Given the description of an element on the screen output the (x, y) to click on. 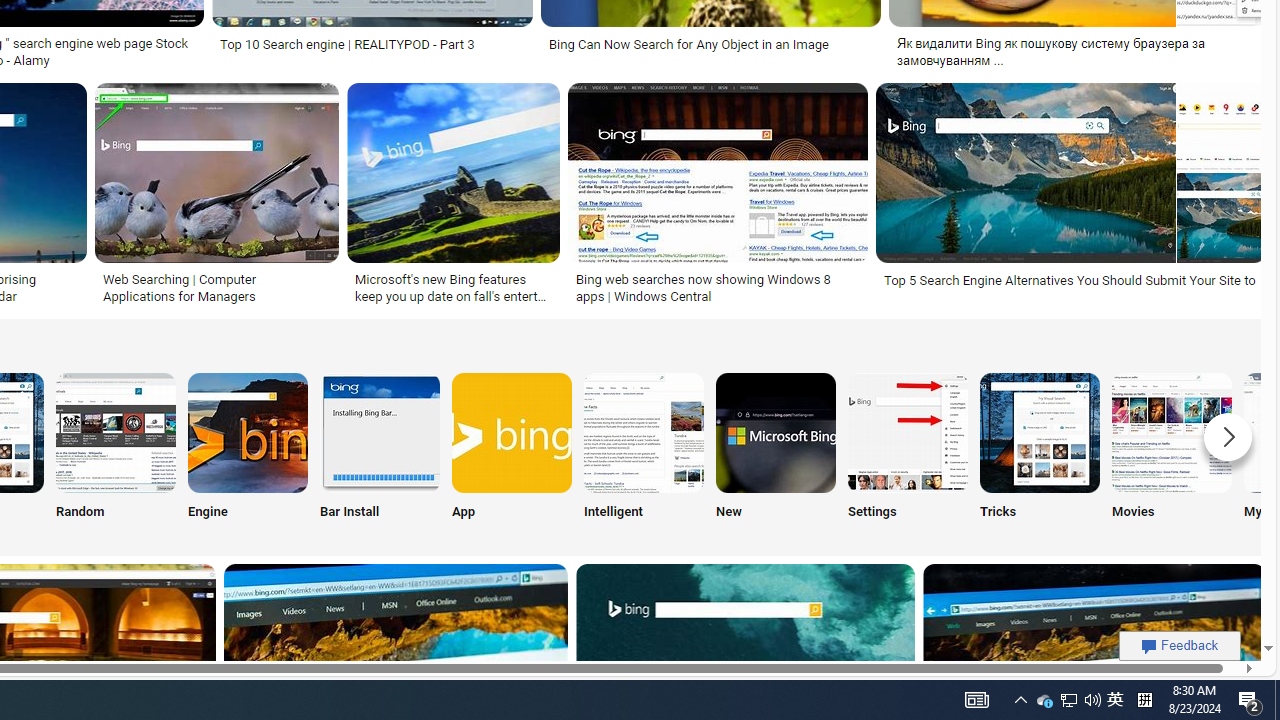
Top 10 Search engine | REALITYPOD - Part 3 (372, 44)
Bar Install (380, 450)
Bing Movies Search Movies (1171, 450)
New (775, 450)
Bing Search Tricks Tricks (1039, 450)
Image result for Bing Search Site (1221, 217)
Tricks (1039, 450)
Top 10 Search engine | REALITYPOD - Part 3 (347, 44)
New Bing Image Search New (775, 450)
Bing Search App App (511, 450)
Bing Random Search (116, 432)
Bing the Search Engine (248, 432)
